Given the description of an element on the screen output the (x, y) to click on. 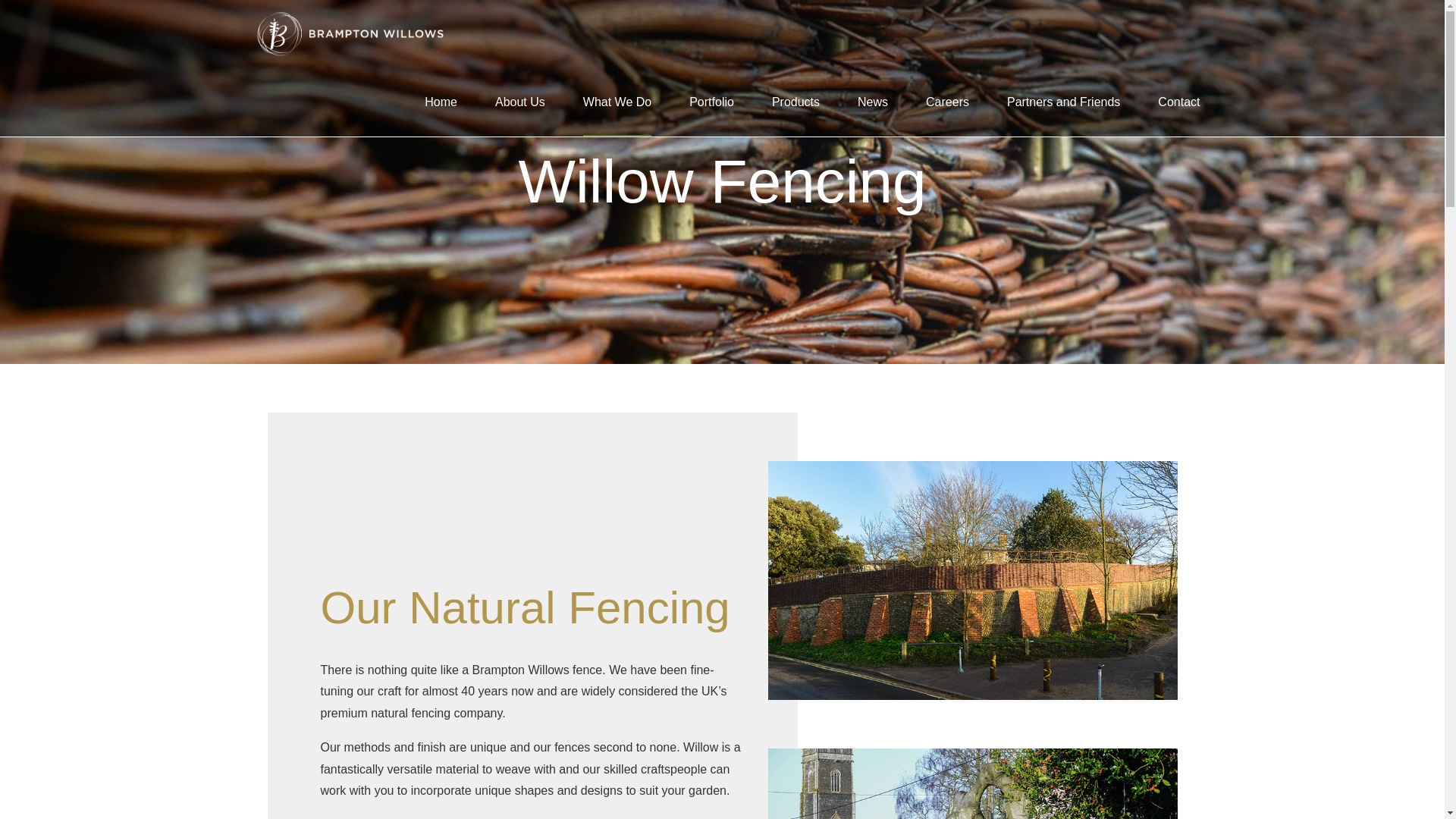
willow-fence-in-suffolk-garden (971, 783)
willow-wall-topper (971, 580)
Partners and Friends (1063, 101)
What We Do (616, 101)
